Given the description of an element on the screen output the (x, y) to click on. 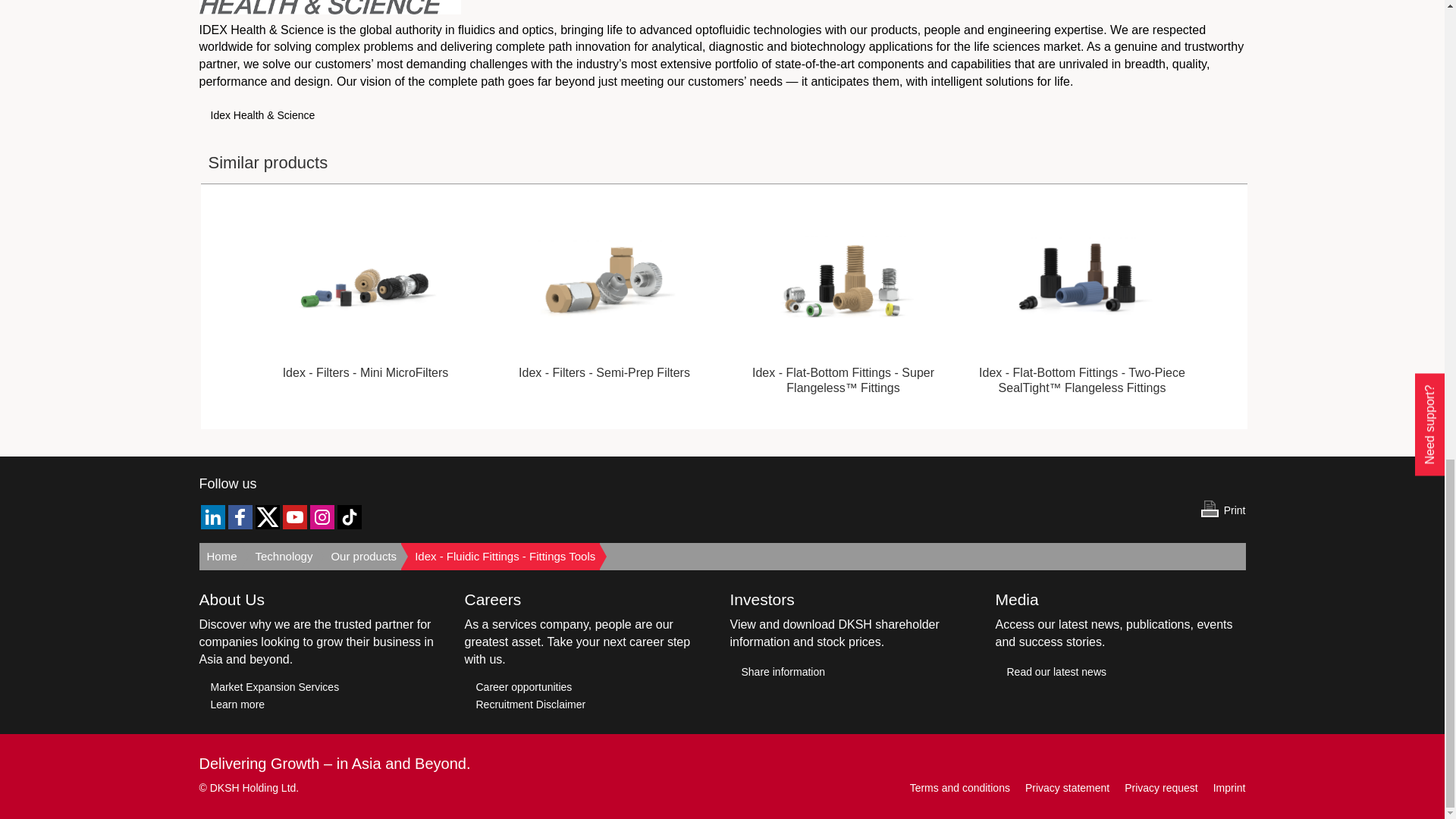
TikTok (348, 517)
Twitter (266, 517)
YouTube (293, 517)
Facebook (239, 517)
Instagram (320, 517)
LinkedIn (212, 517)
